Given the description of an element on the screen output the (x, y) to click on. 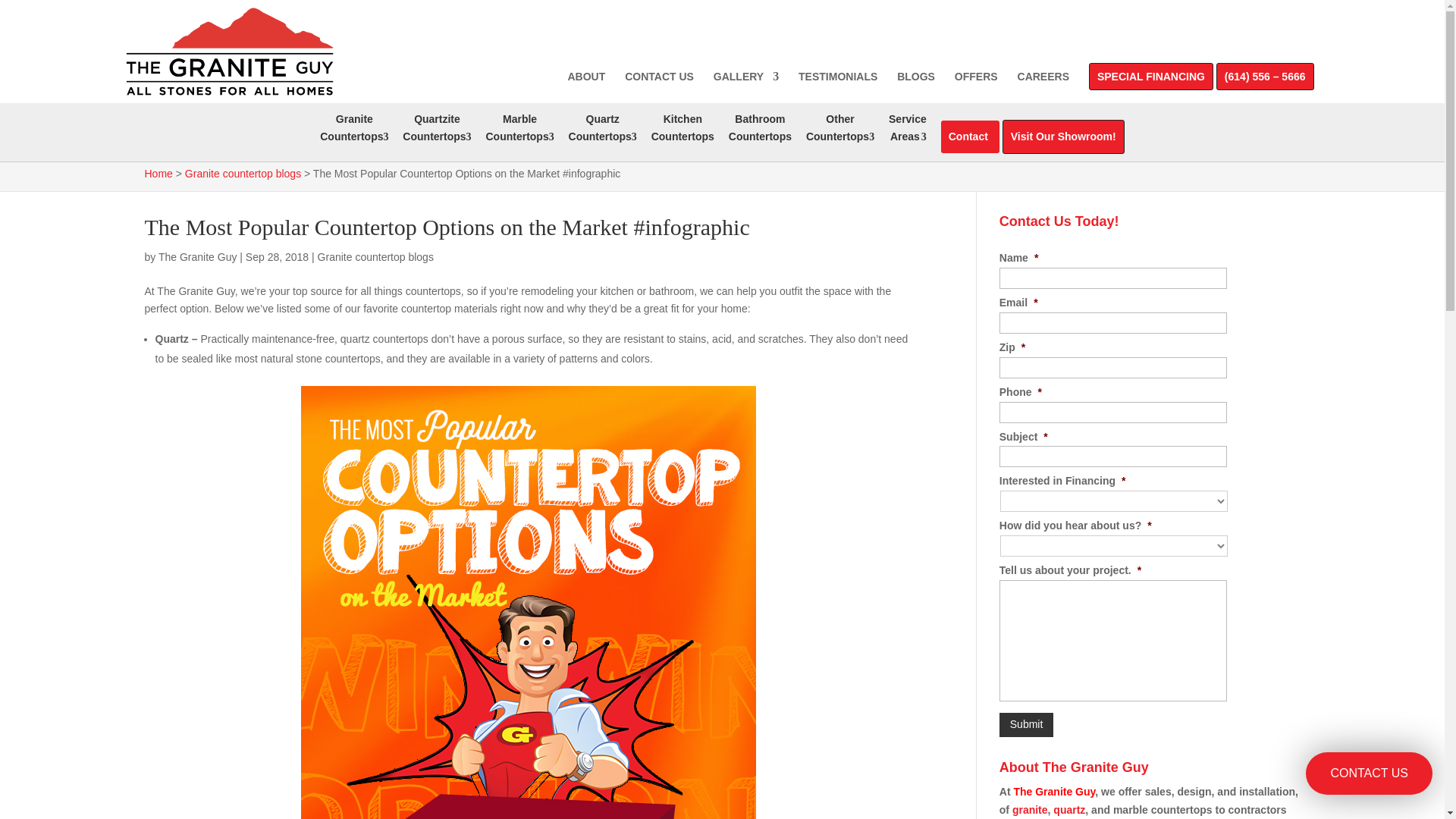
BLOGS (915, 80)
ABOUT (586, 80)
Submit (1026, 724)
CAREERS (1042, 80)
SPECIAL FINANCING (1151, 80)
GALLERY (518, 131)
OFFERS (745, 80)
TESTIMONIALS (976, 80)
CONTACT US (436, 131)
